Given the description of an element on the screen output the (x, y) to click on. 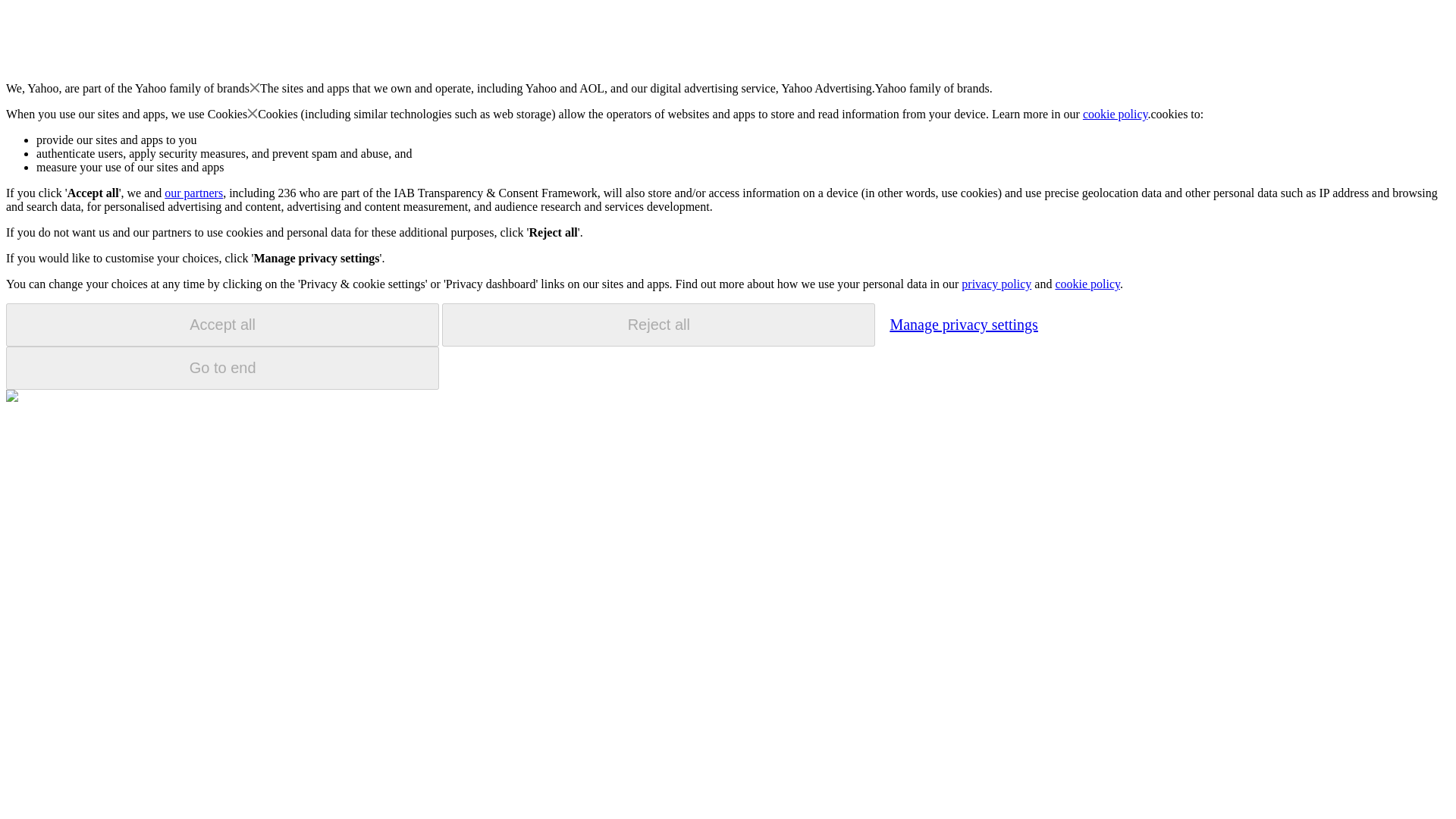
our partners (193, 192)
privacy policy (995, 283)
cookie policy (1086, 283)
Manage privacy settings (963, 323)
cookie policy (1115, 113)
Reject all (658, 324)
Go to end (222, 367)
Accept all (222, 324)
